Given the description of an element on the screen output the (x, y) to click on. 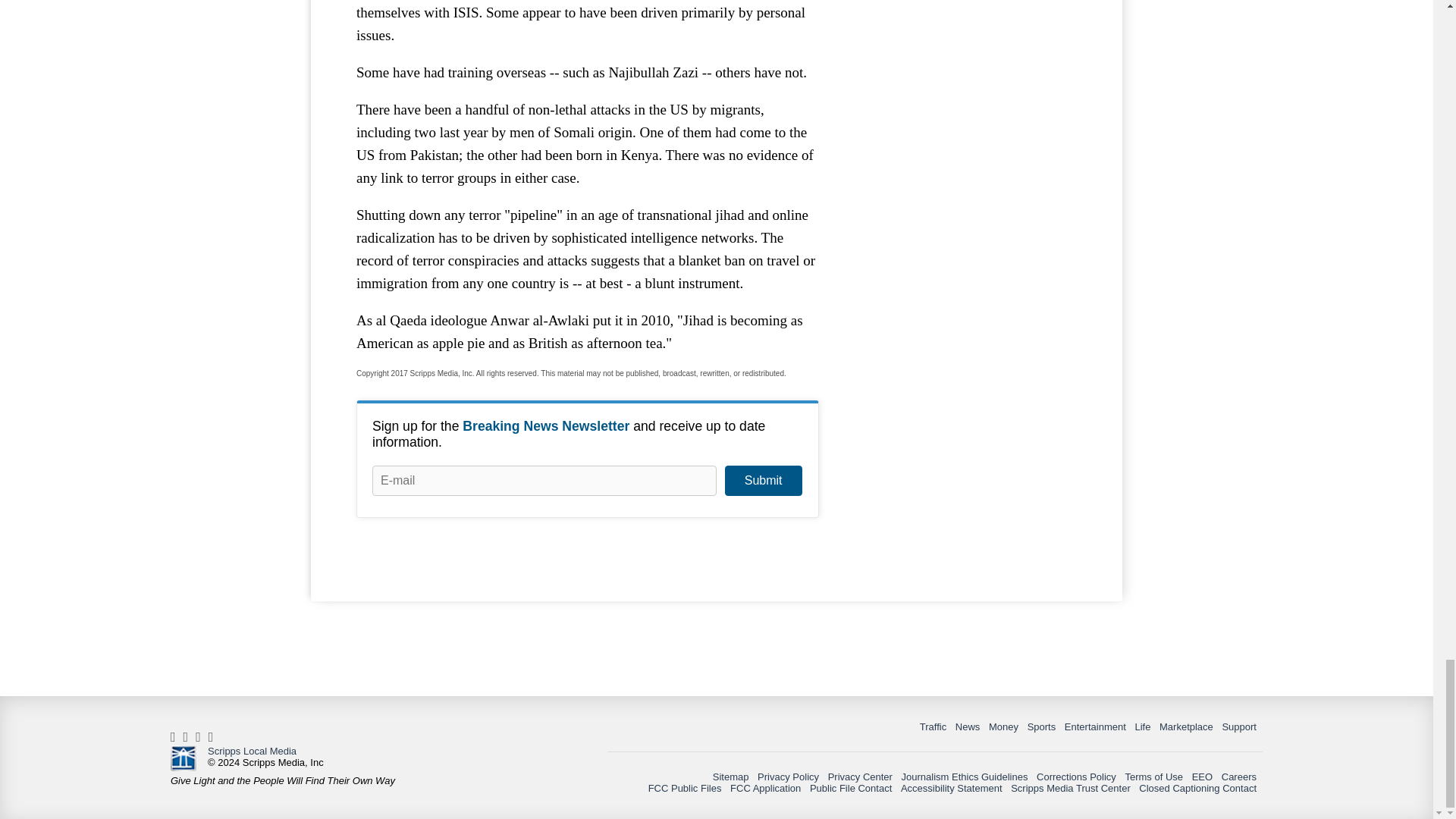
Submit (763, 481)
